Given the description of an element on the screen output the (x, y) to click on. 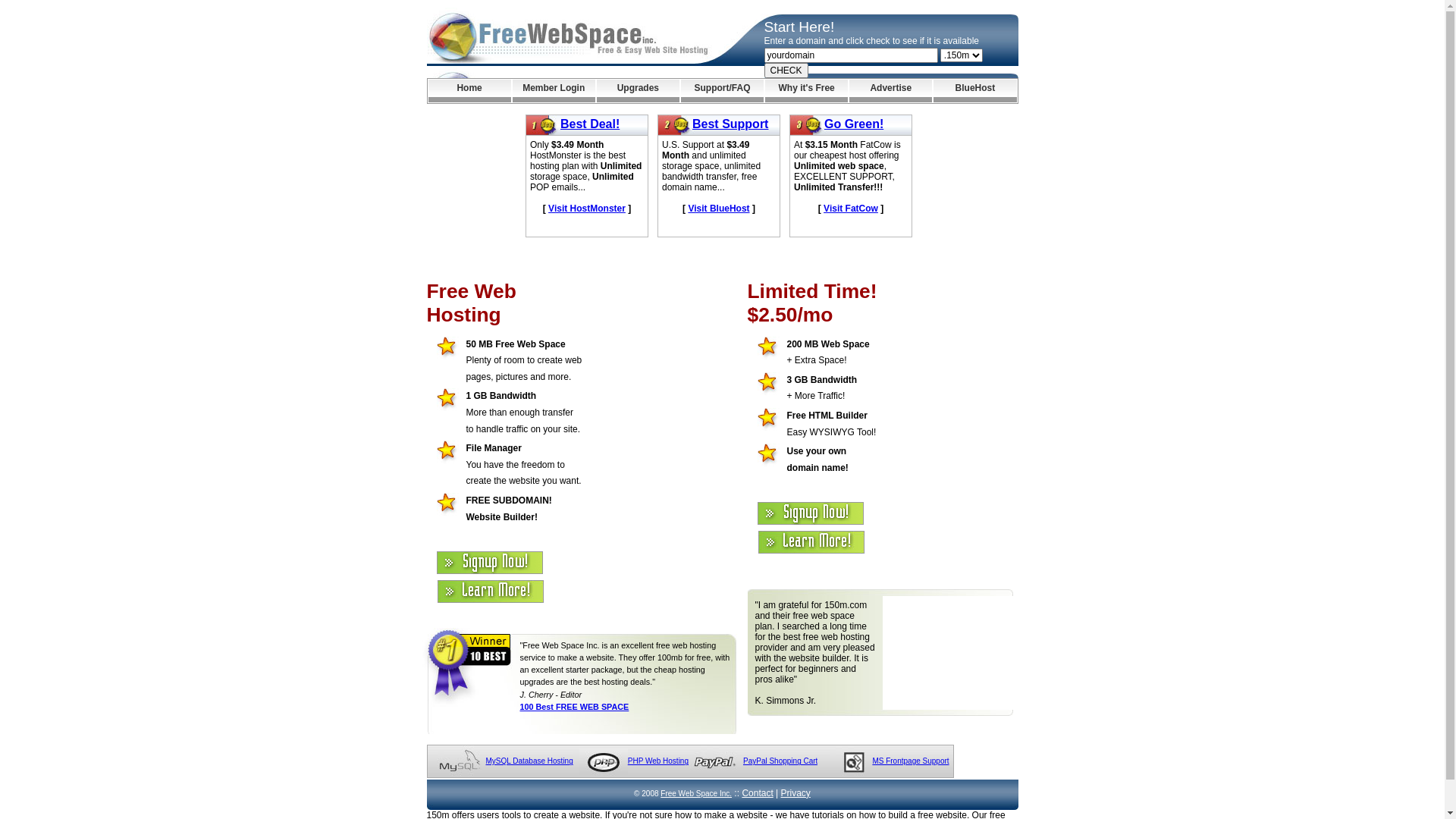
PHP Web Hosting Element type: text (657, 760)
Free Web Space Inc. Element type: text (695, 793)
Member Login Element type: text (553, 90)
Advertise Element type: text (890, 90)
Upgrades Element type: text (637, 90)
MySQL Database Hosting Element type: text (528, 760)
MS Frontpage Support Element type: text (910, 760)
Contact Element type: text (756, 792)
BlueHost Element type: text (974, 90)
Support/FAQ Element type: text (721, 90)
100 Best FREE WEB SPACE Element type: text (574, 706)
Privacy Element type: text (795, 792)
Why it's Free Element type: text (806, 90)
CHECK Element type: text (786, 70)
PayPal Shopping Cart Element type: text (780, 760)
Home Element type: text (468, 90)
